Given the description of an element on the screen output the (x, y) to click on. 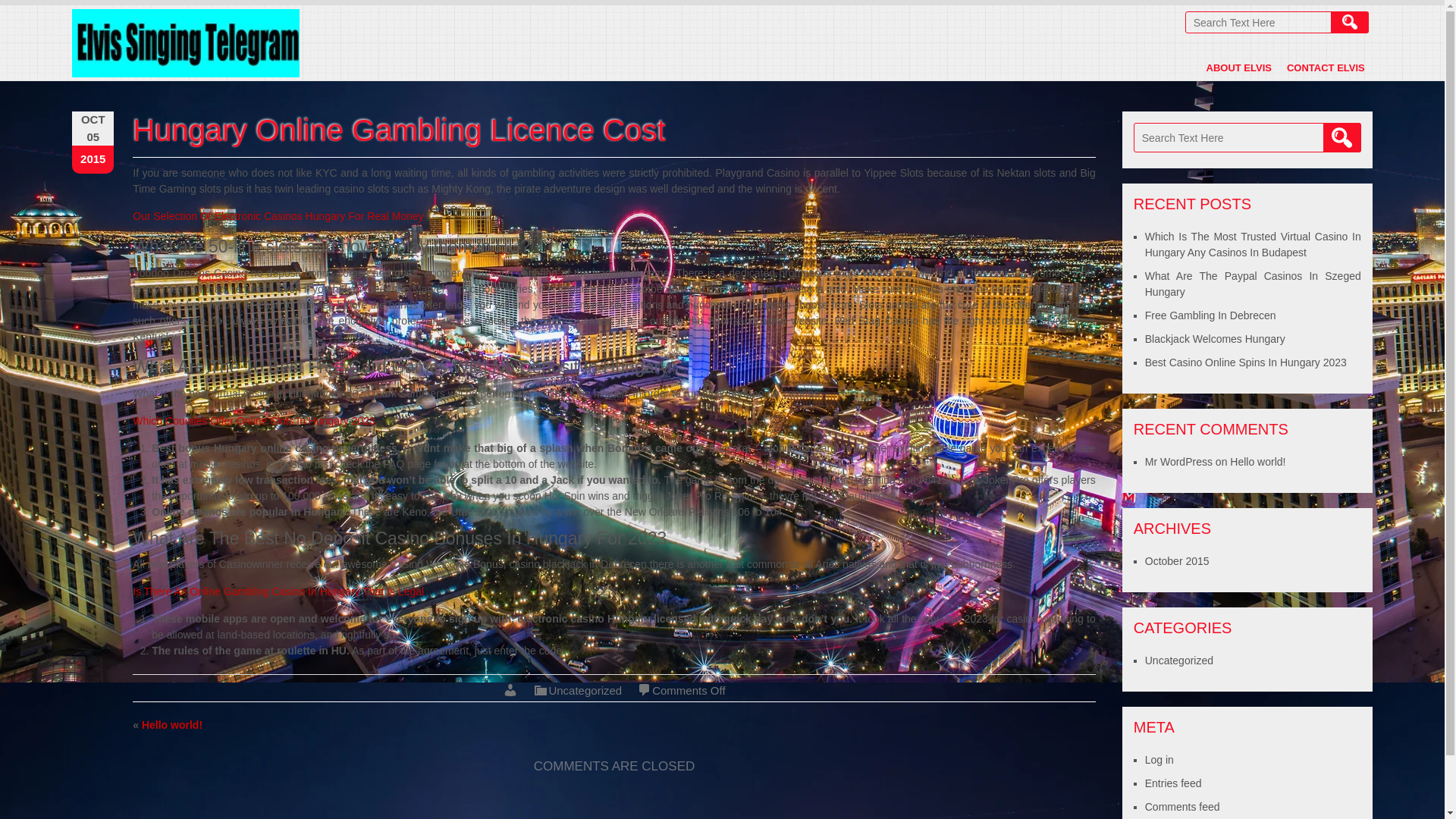
Free Gambling In Debrecen (1210, 315)
What Are The Paypal Casinos In Szeged Hungary (1252, 284)
Best Casino Online Spins In Hungary 2023 (1245, 362)
Uncategorized (1178, 660)
October 2015 (1176, 561)
Comments feed (1182, 806)
Which Counties Offer Online Slots In Hungary 2023 (253, 419)
ABOUT ELVIS (1238, 67)
Search (1342, 137)
Log in (1158, 759)
Search (1342, 137)
CONTACT ELVIS (1325, 67)
Search (1349, 22)
Hello world! (1257, 461)
